Given the description of an element on the screen output the (x, y) to click on. 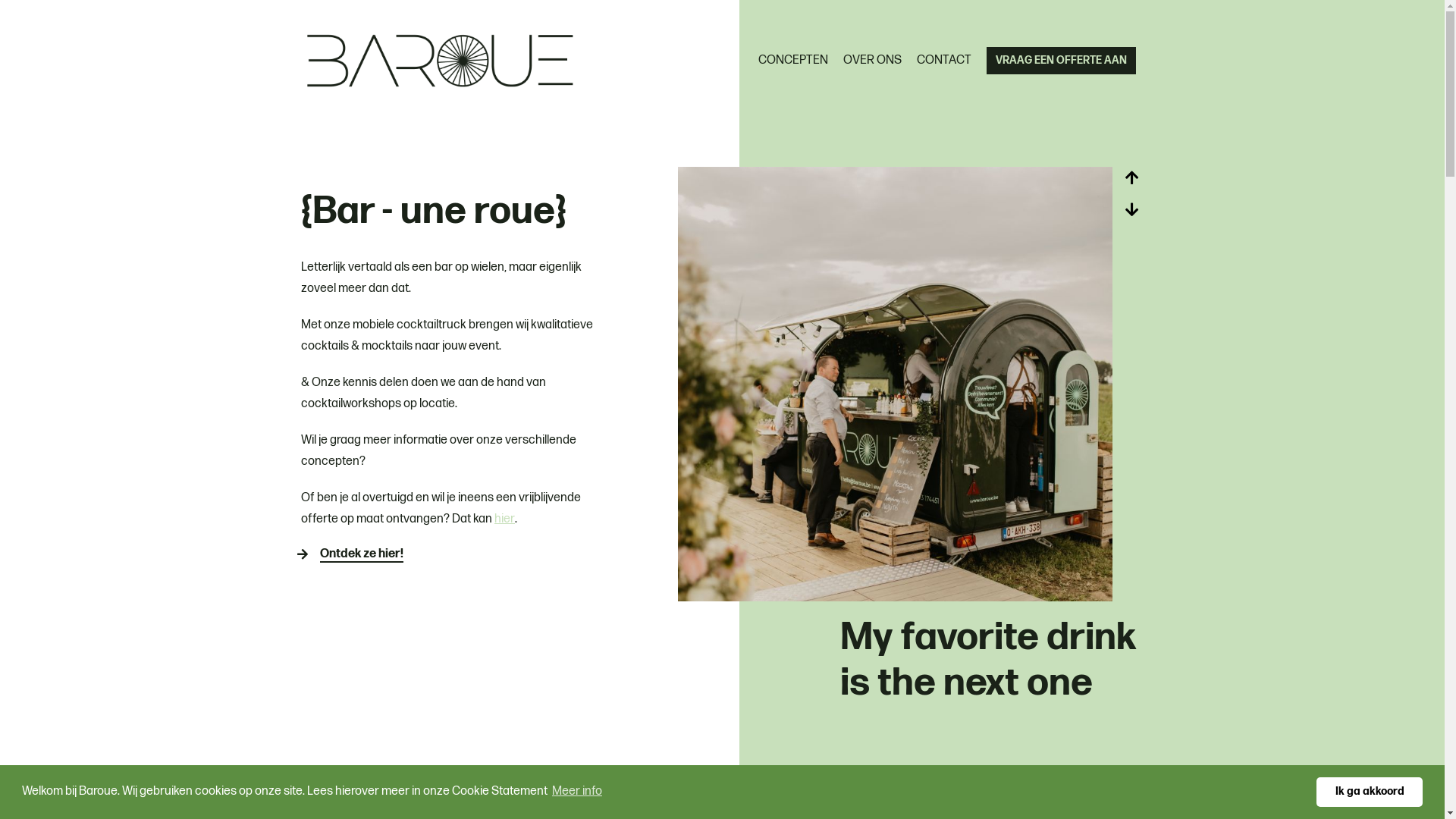
Ontdek ze hier! Element type: text (361, 554)
CONCEPTEN Element type: text (793, 60)
hier Element type: text (504, 518)
Meer info Element type: text (576, 791)
OVER ONS Element type: text (872, 60)
Ik ga akkoord Element type: text (1369, 791)
VRAAG EEN OFFERTE AAN Element type: text (1060, 60)
CONTACT Element type: text (943, 60)
